Given the description of an element on the screen output the (x, y) to click on. 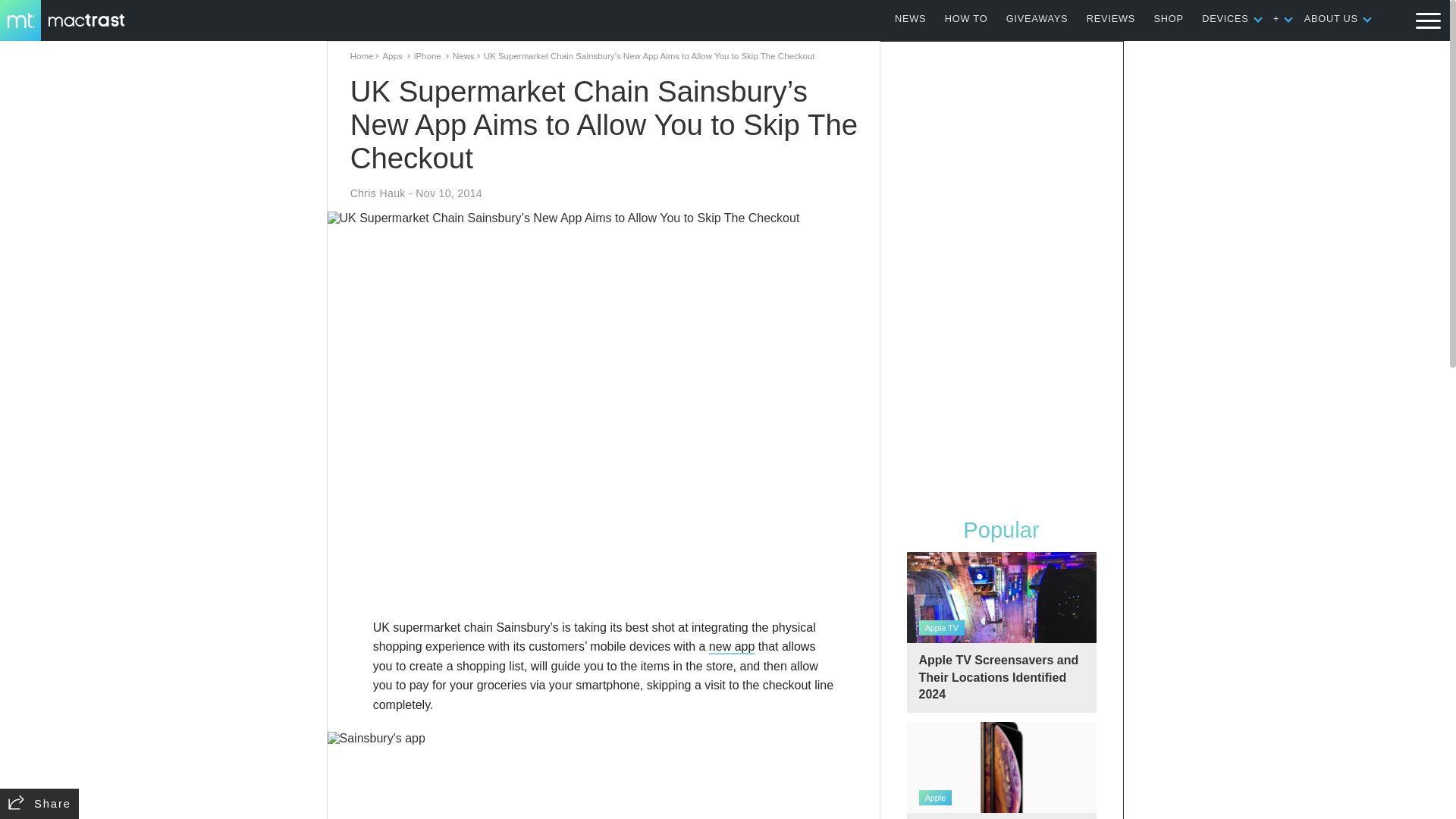
REVIEWS (1110, 18)
ABOUT US (1331, 18)
NEWS (910, 18)
HOW TO (966, 18)
Sainsbury's app (603, 775)
Posts by Chris Hauk (378, 193)
Advertisement (603, 572)
SHOP (1168, 18)
GIVEAWAYS (1037, 18)
DEVICES (1224, 18)
